Given the description of an element on the screen output the (x, y) to click on. 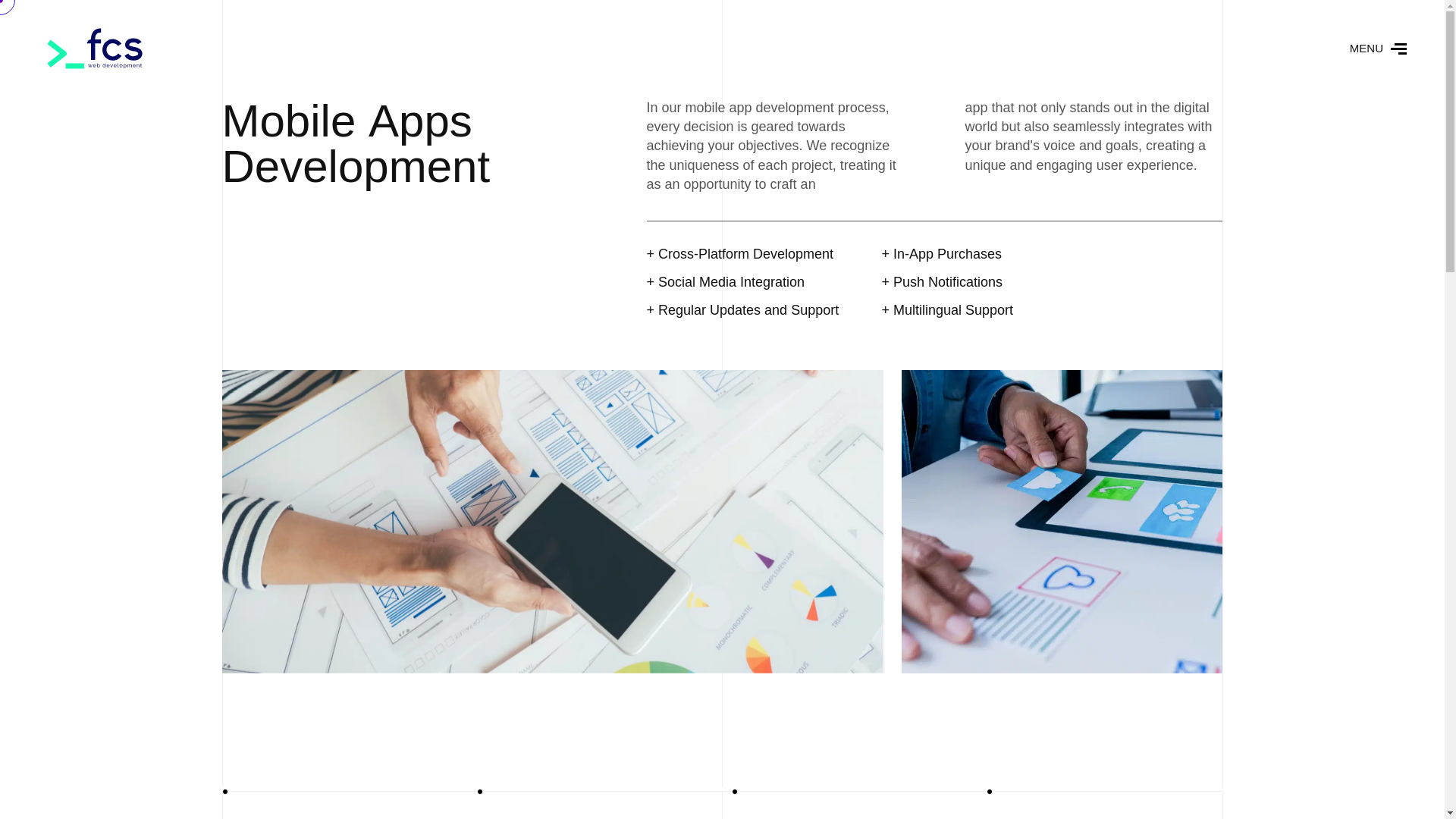
MENU (1377, 48)
